Given the description of an element on the screen output the (x, y) to click on. 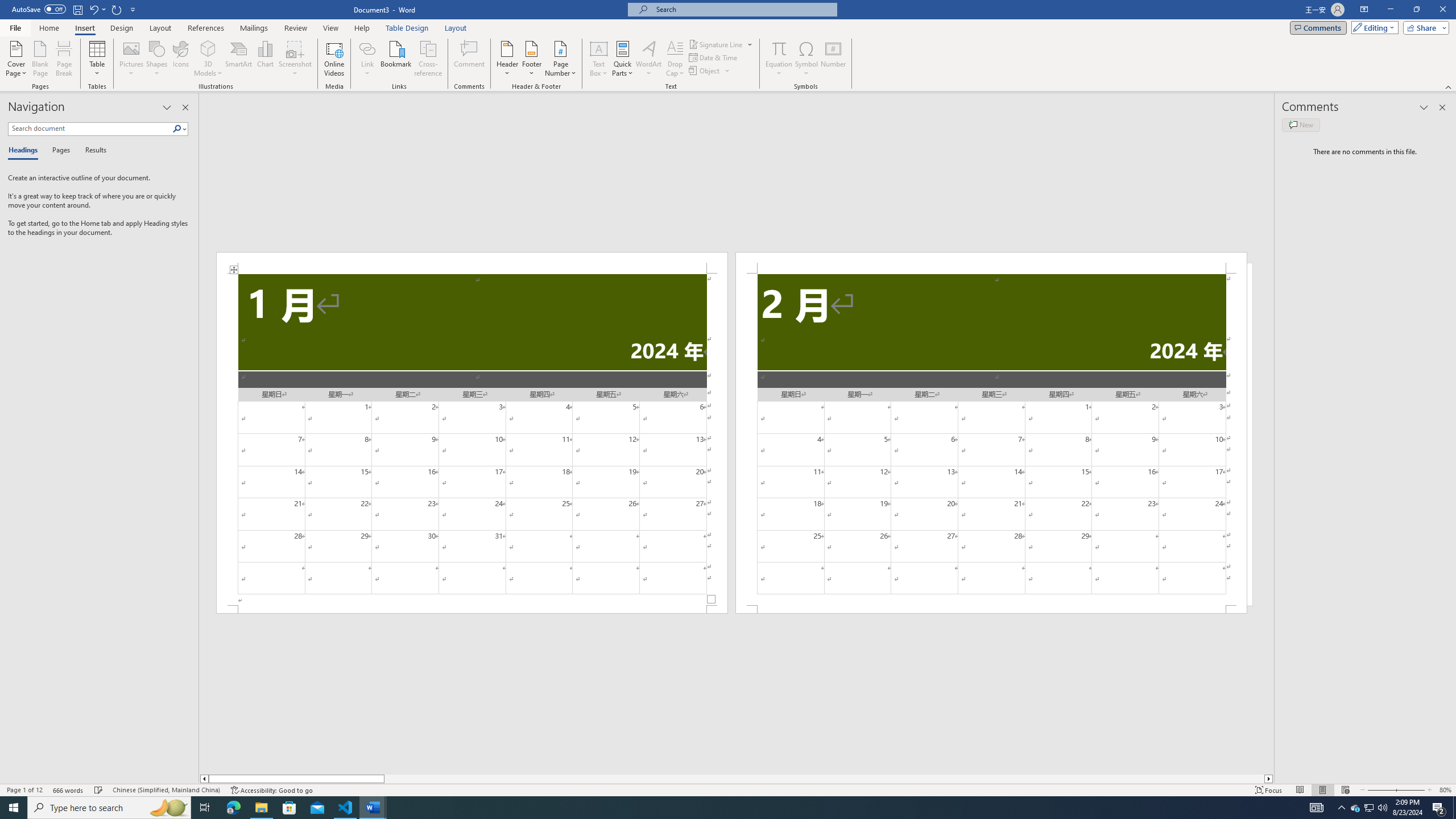
Signature Line (721, 44)
Header -Section 1- (471, 263)
Spelling and Grammar Check Checking (98, 790)
Online Videos... (333, 58)
Page right (823, 778)
Screenshot (295, 58)
Footer (531, 58)
Text Box (598, 58)
